Given the description of an element on the screen output the (x, y) to click on. 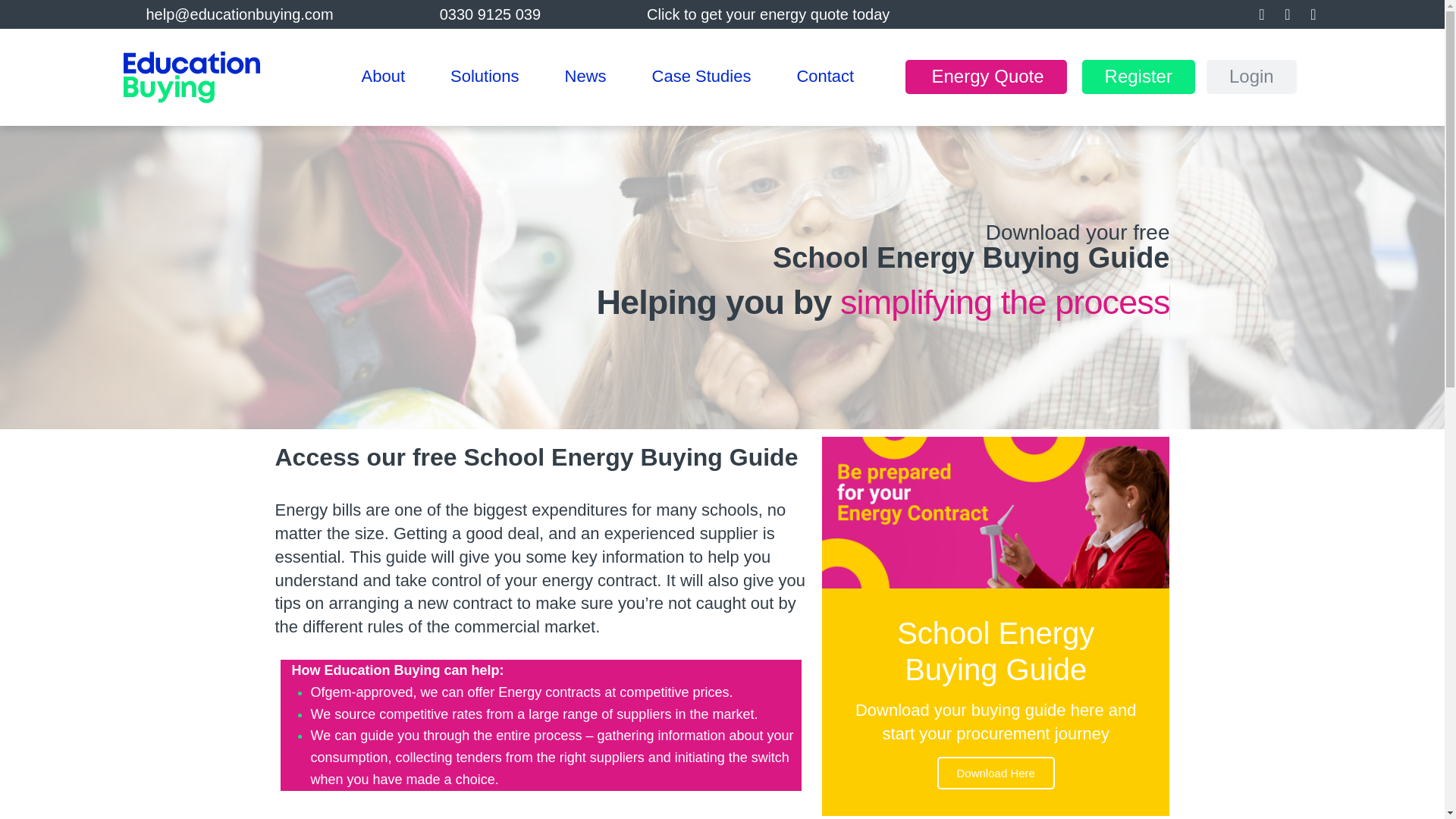
Click to get your energy quote today (767, 13)
Solutions (484, 77)
0330 9125 039 (489, 13)
About (382, 77)
